Given the description of an element on the screen output the (x, y) to click on. 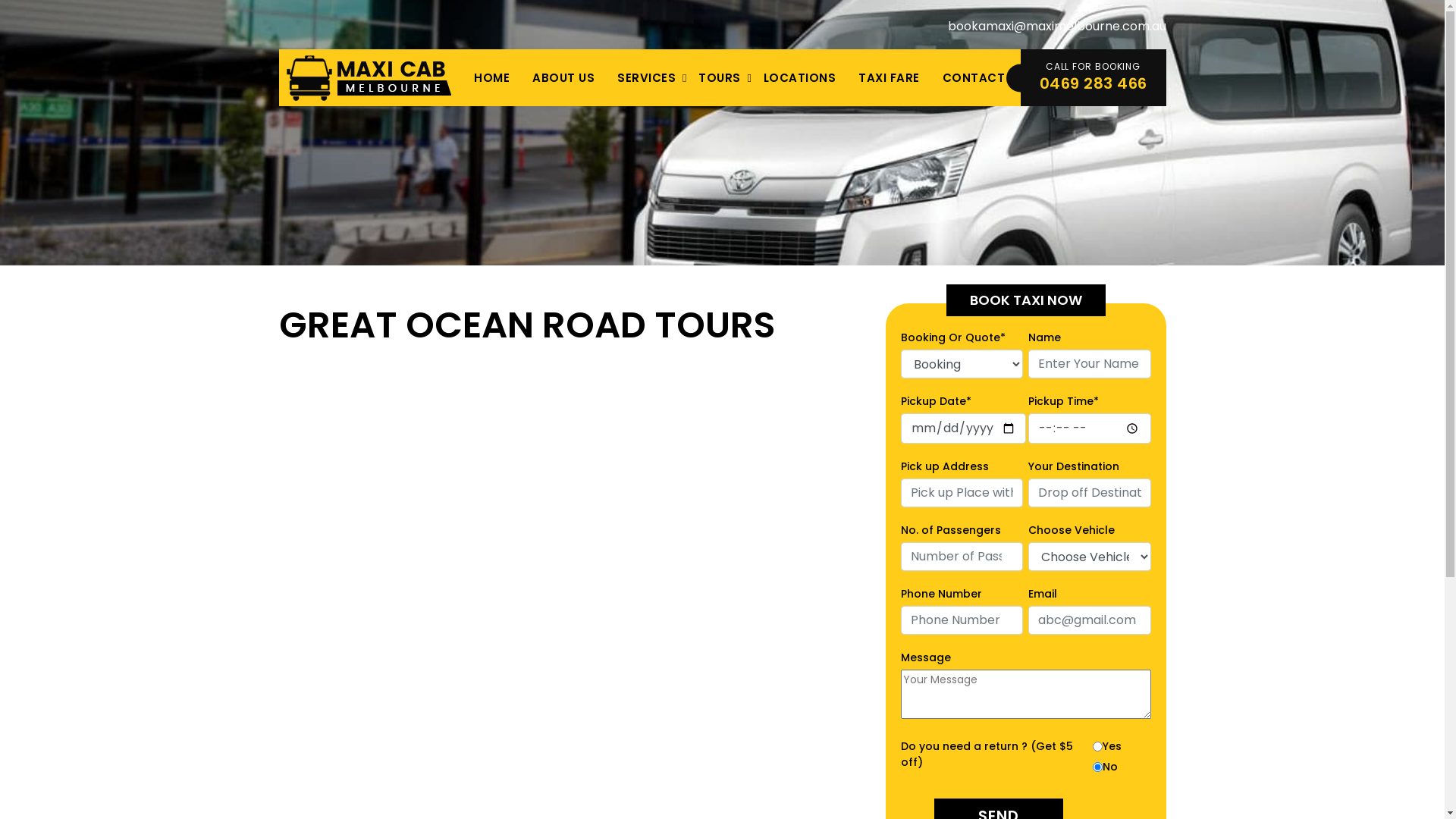
TAXI FARE Element type: text (889, 77)
TOURS Element type: text (719, 77)
ABOUT US Element type: text (562, 77)
bookamaxi@maximelbourne.com.au Element type: text (1056, 25)
CONTACT Element type: text (973, 77)
SERVICES Element type: text (646, 77)
0469 283 466 Element type: text (1092, 83)
HOME Element type: text (491, 77)
LOCATIONS Element type: text (799, 77)
